Given the description of an element on the screen output the (x, y) to click on. 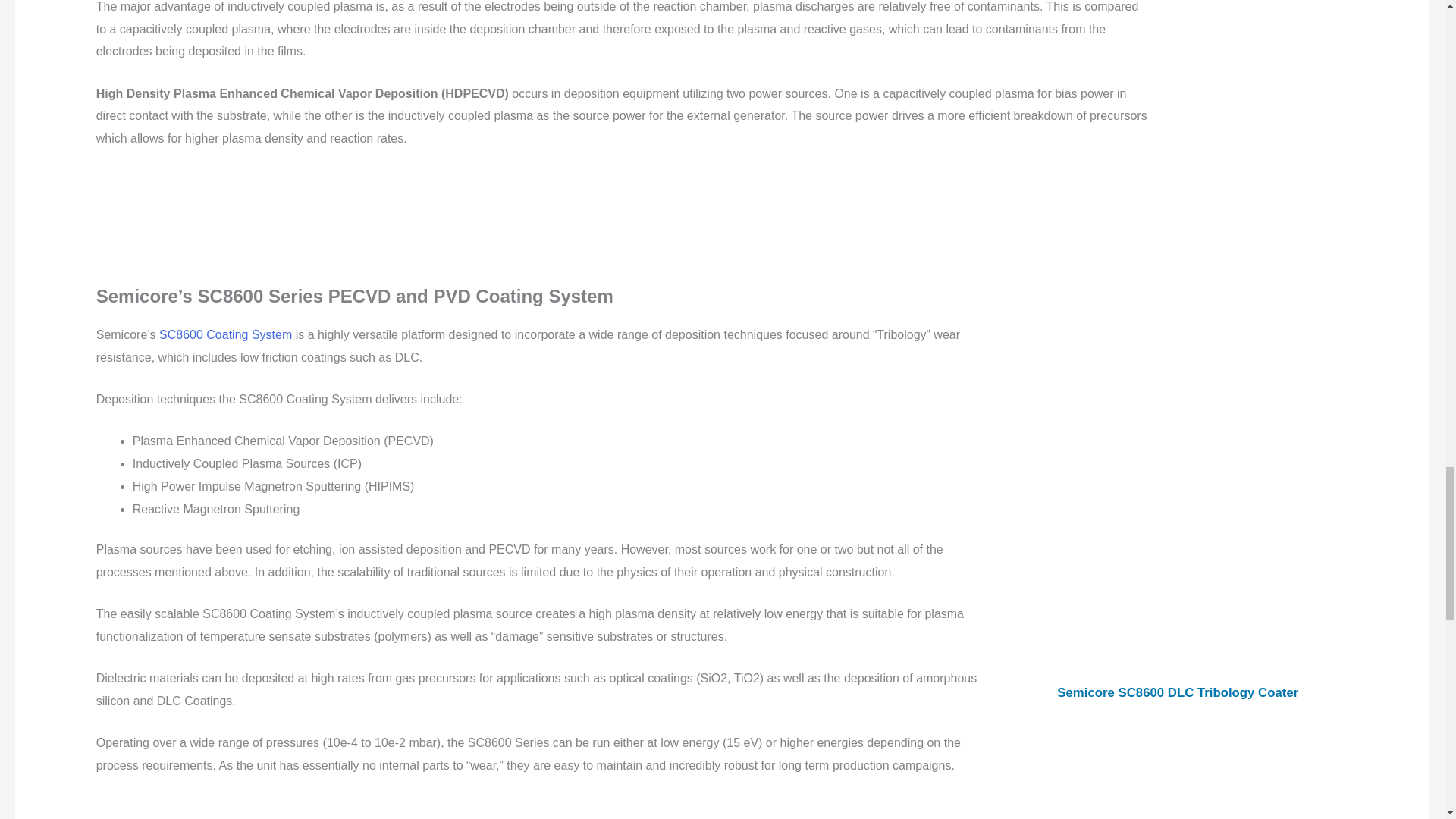
Click for larger Diagram of Remote PECVD Process Reactor (1253, 181)
Go to the Semicore Tribology Coaters Page (1177, 494)
Click for larger Diagram of Direct PECVD Process Reactor (1253, 40)
